Given the description of an element on the screen output the (x, y) to click on. 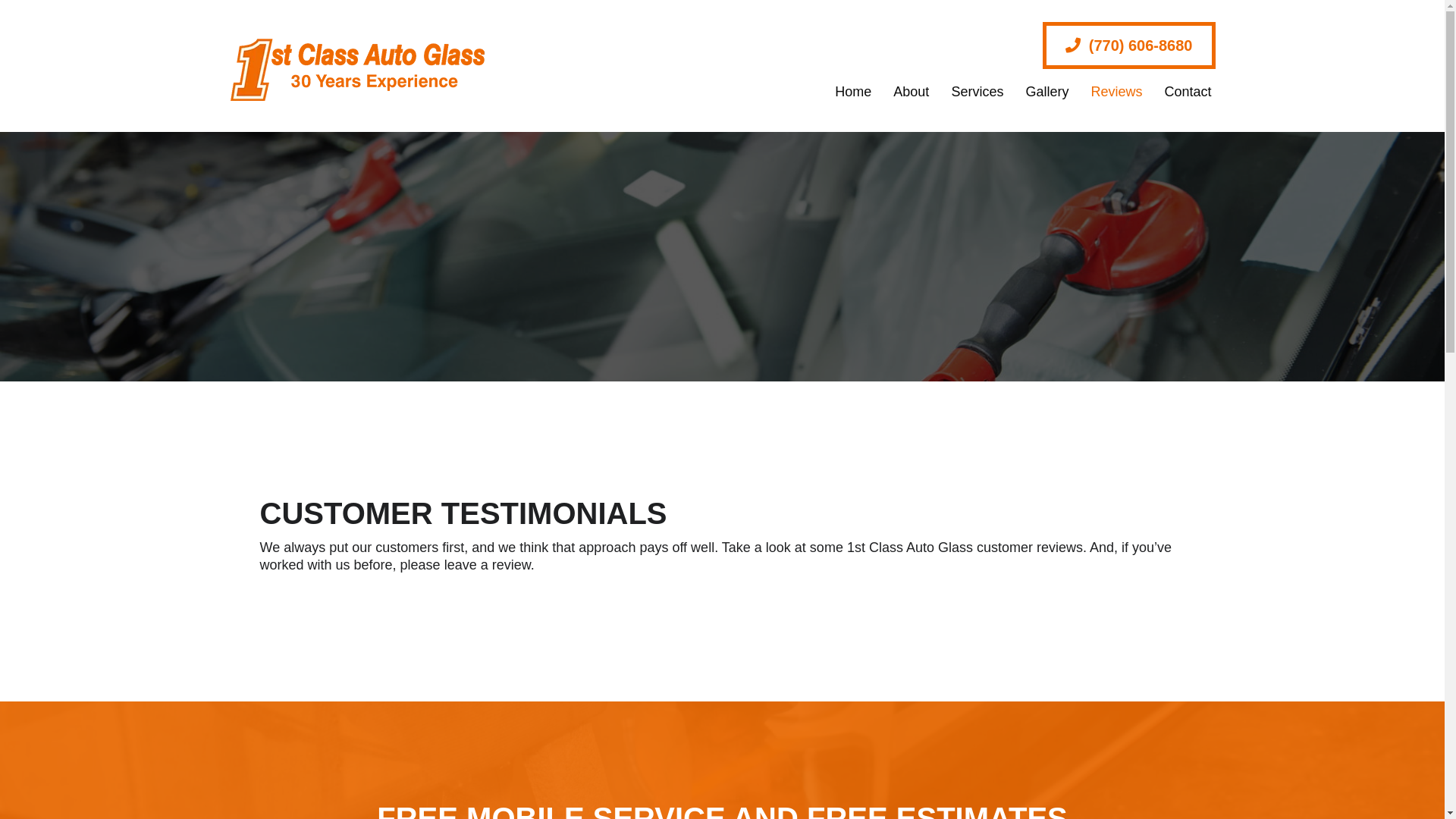
Services Element type: text (969, 91)
About Element type: text (903, 91)
Home Element type: text (845, 91)
Contact Element type: text (1179, 91)
Skip to content Element type: text (0, 0)
  (770) 606-8680 Element type: text (1128, 45)
Reviews Element type: text (1108, 91)
Gallery Element type: text (1039, 91)
